Given the description of an element on the screen output the (x, y) to click on. 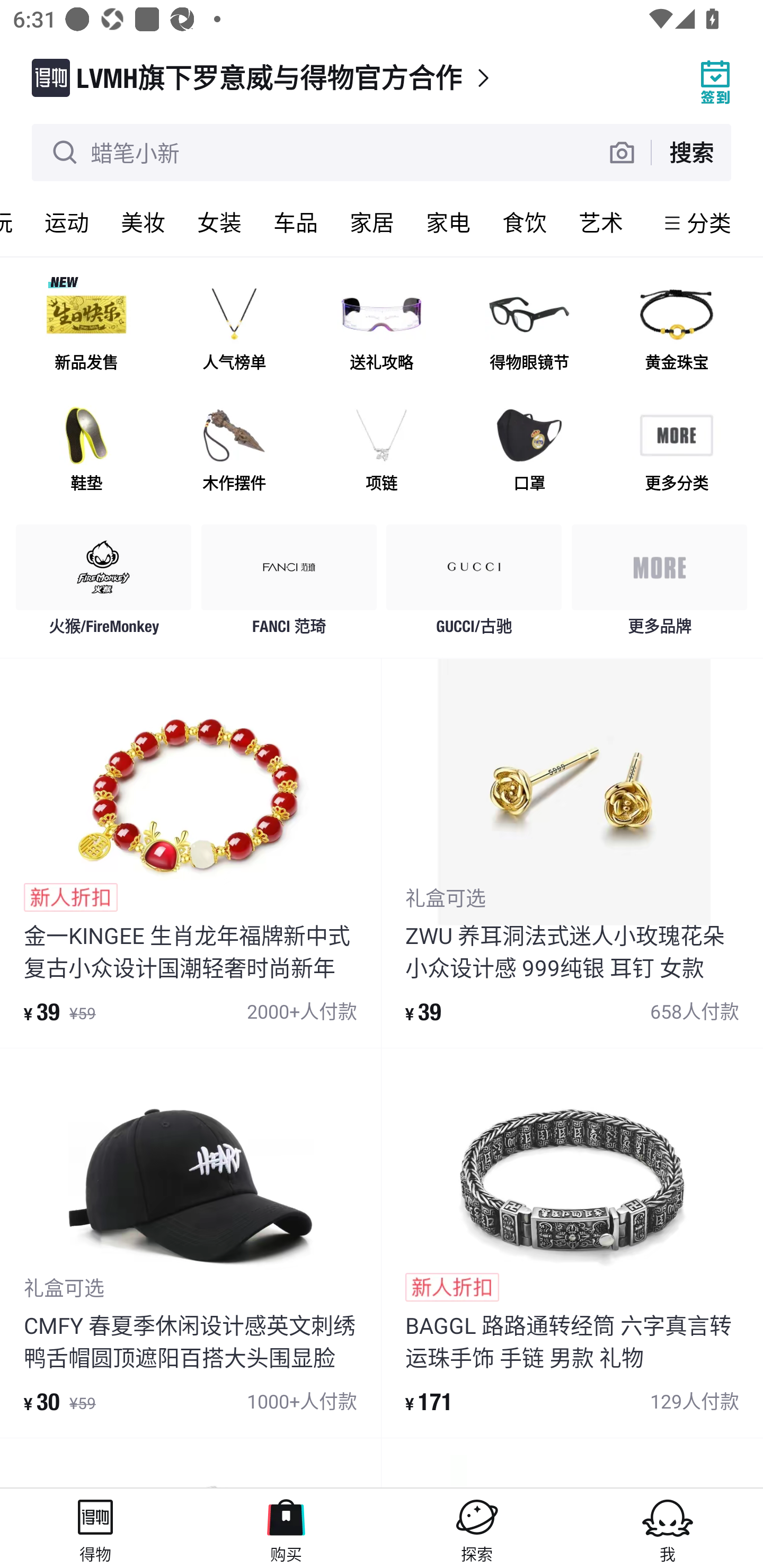
搜索 (690, 152)
运动 (66, 222)
美妆 (143, 222)
女装 (219, 222)
车品 (295, 222)
家居 (372, 222)
家电 (448, 222)
食饮 (524, 222)
艺术 (601, 222)
分类 (708, 222)
新品发售 (86, 329)
人气榜单 (233, 329)
送礼攻略 (381, 329)
得物眼镜节 (528, 329)
黄金珠宝 (676, 329)
鞋垫 (86, 450)
木作摆件 (233, 450)
项链 (381, 450)
口罩 (528, 450)
更多分类 (676, 450)
火猴/FireMonkey (103, 583)
FANCI 范琦 (288, 583)
GUCCI/古驰 (473, 583)
更多品牌 (658, 583)
得物 (95, 1528)
购买 (285, 1528)
探索 (476, 1528)
我 (667, 1528)
